Given the description of an element on the screen output the (x, y) to click on. 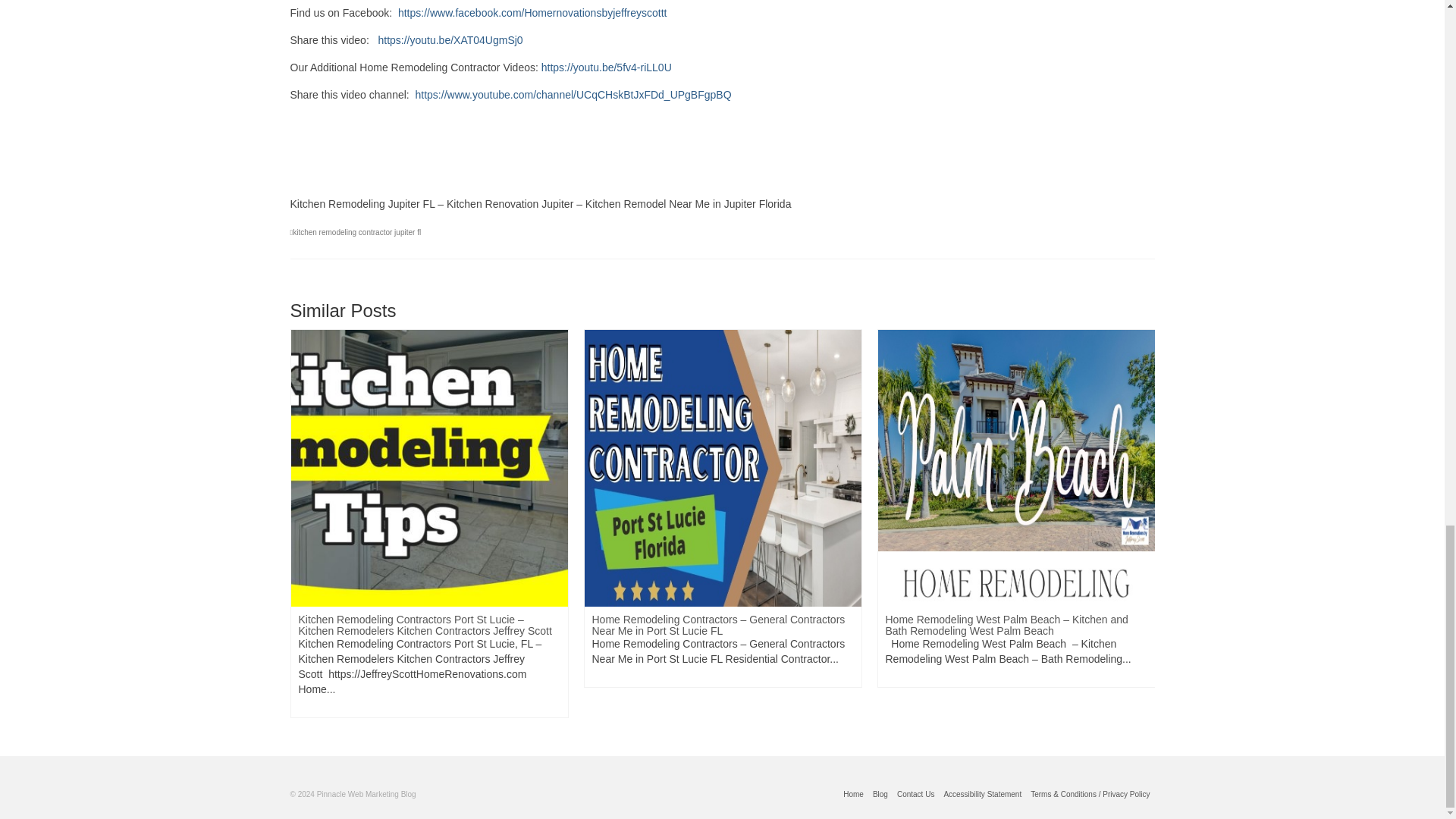
kitchen remodeling contractor jupiter fl (356, 232)
